Given the description of an element on the screen output the (x, y) to click on. 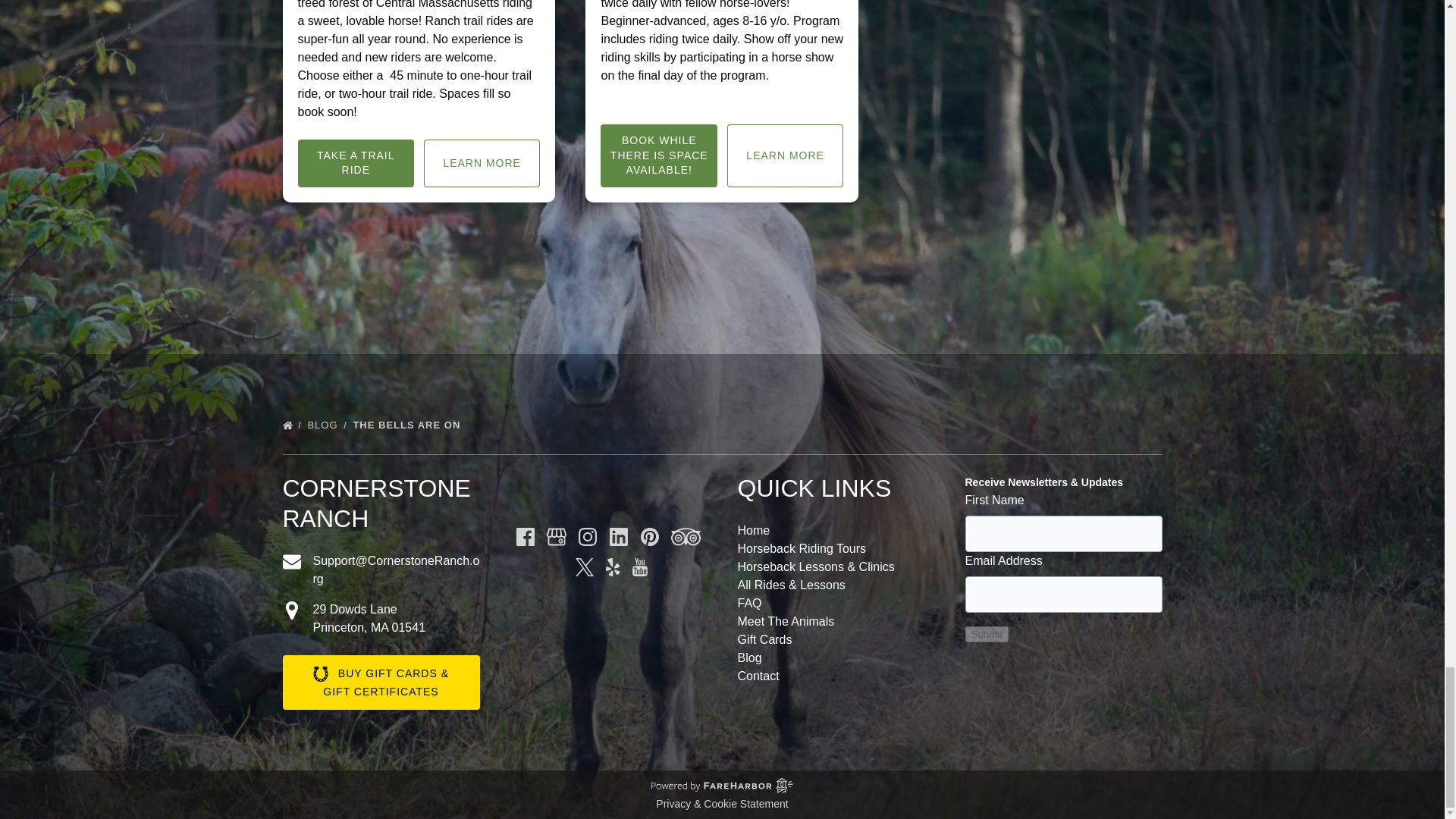
Map Marker (290, 610)
Envelope (290, 561)
Submit (985, 634)
